Given the description of an element on the screen output the (x, y) to click on. 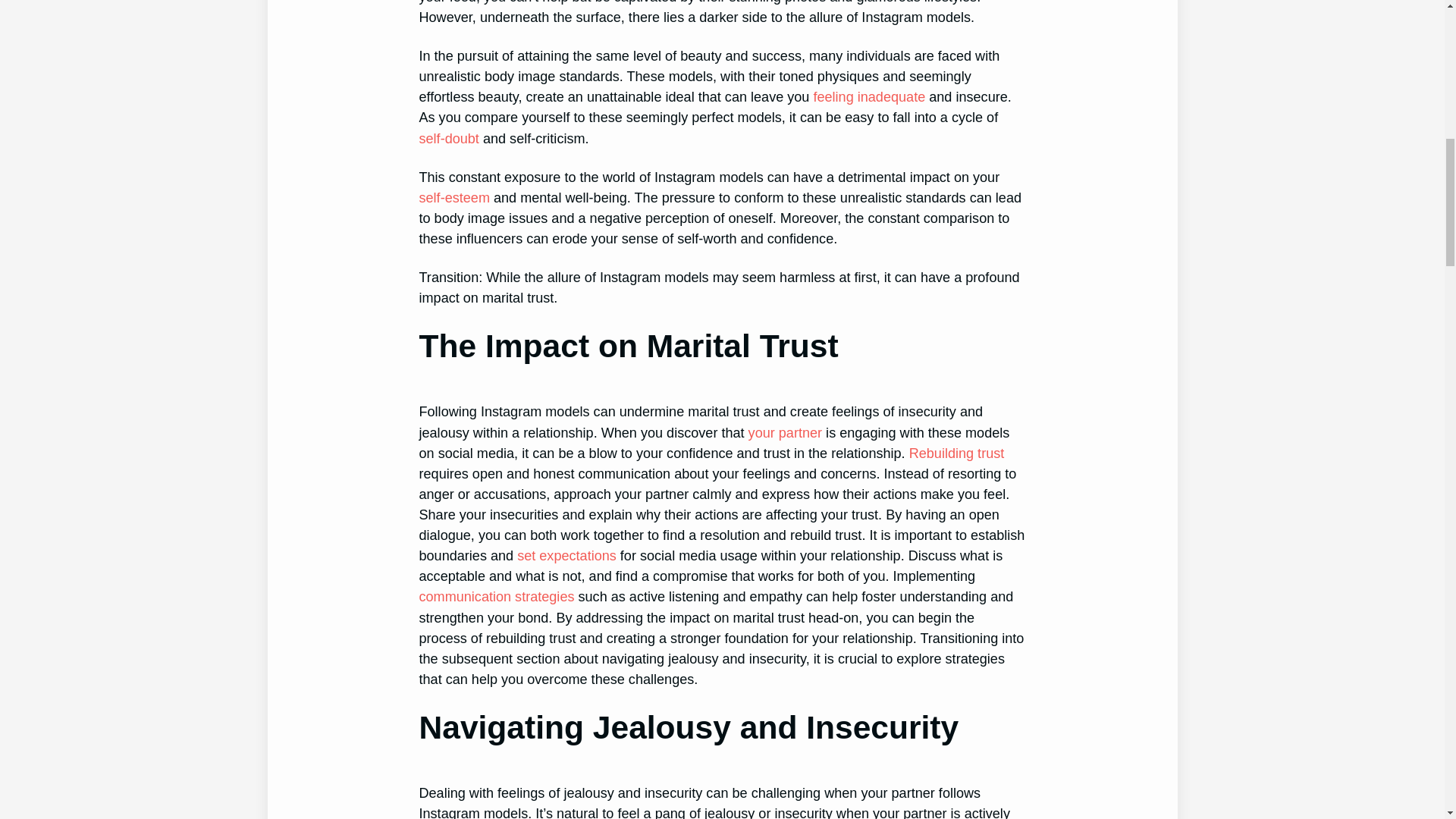
set expectations (565, 555)
self-esteem (454, 197)
set expectations (565, 555)
Rebuilding trust (956, 453)
self-esteem (454, 197)
your partner (785, 432)
feeling inadequate (868, 96)
self-doubt (449, 138)
Rebuilding trust (956, 453)
your partner (785, 432)
